Given the description of an element on the screen output the (x, y) to click on. 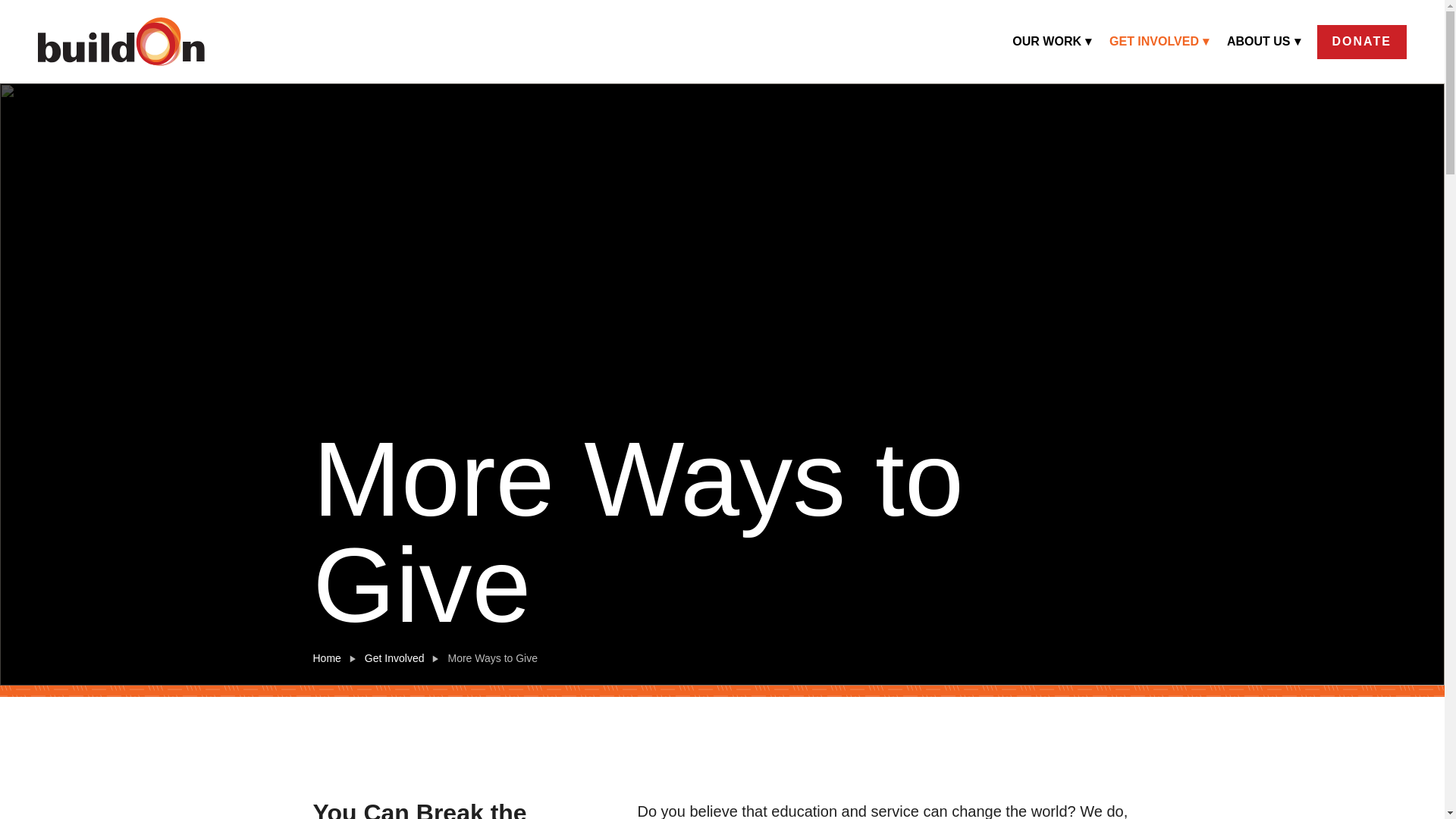
Get Involved (395, 658)
homepage (121, 41)
GET INVOLVED (1158, 41)
DONATE (1361, 41)
OUR WORK (1051, 41)
ABOUT US (1262, 41)
Home (326, 658)
